Given the description of an element on the screen output the (x, y) to click on. 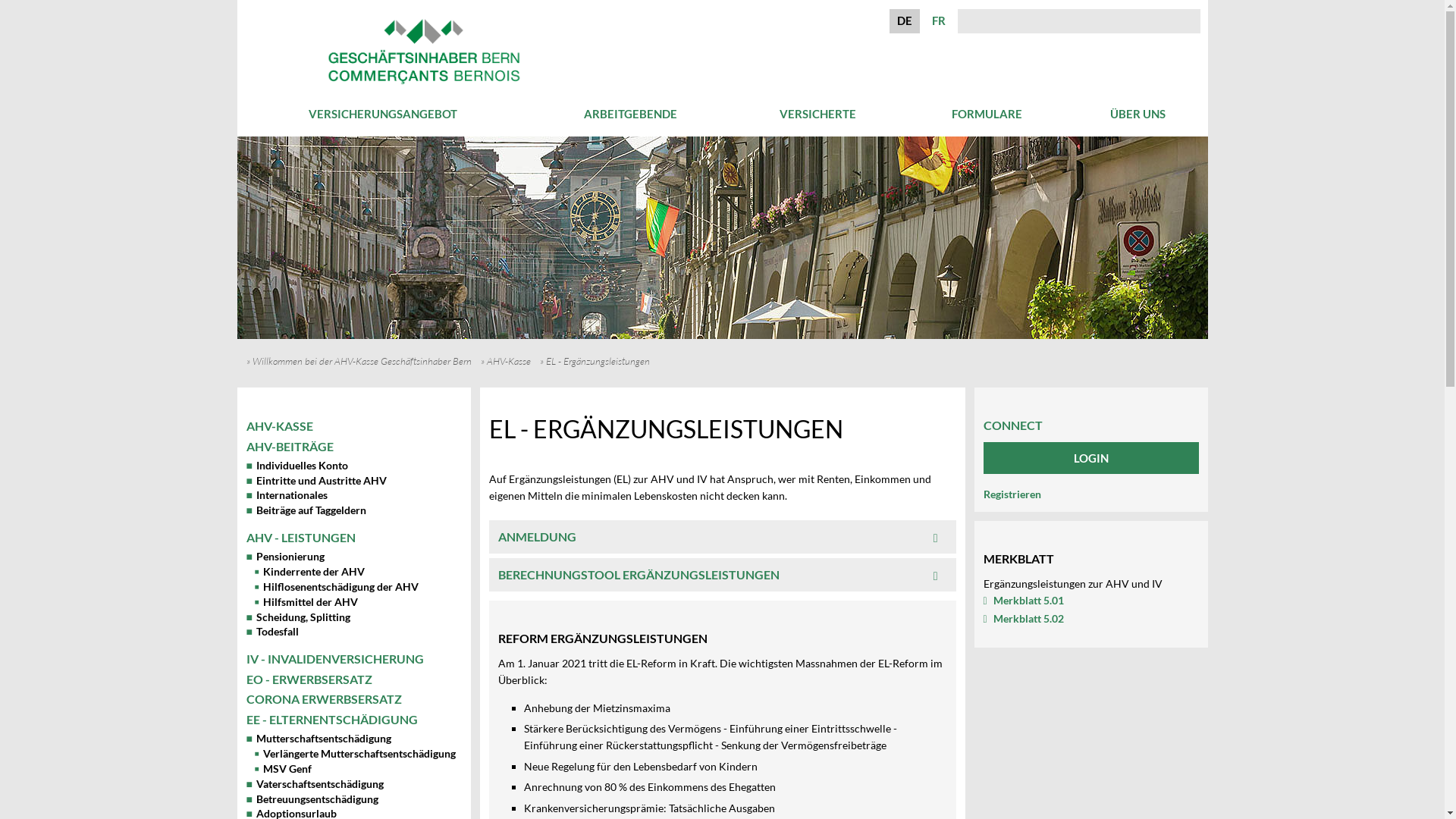
Hilfsmittel der AHV Element type: text (305, 601)
LOGIN Element type: text (1090, 457)
Eintritte und Austritte AHV Element type: text (315, 479)
FR Element type: text (938, 20)
AHV-Kasse Element type: text (512, 360)
Todesfall Element type: text (271, 630)
Registrieren Element type: text (1011, 493)
Home Element type: hover (423, 85)
Pensionierung Element type: text (284, 555)
Individuelles Konto Element type: text (296, 464)
Internationales Element type: text (285, 494)
ANMELDUNG Element type: text (721, 536)
MSV Genf Element type: text (282, 768)
AHV - LEISTUNGEN Element type: text (299, 537)
Merkblatt 5.01 Element type: text (1022, 599)
Merkblatt 5.02 Element type: text (1022, 617)
CONNECT Element type: text (1011, 418)
CORONA ERWERBSERSATZ Element type: text (323, 698)
Kinderrente der AHV Element type: text (309, 570)
AHV-KASSE Element type: text (278, 425)
Scheidung, Splitting Element type: text (297, 616)
IV - INVALIDENVERSICHERUNG Element type: text (334, 658)
EO - ERWERBSERSATZ Element type: text (308, 678)
DE Element type: text (904, 20)
